Given the description of an element on the screen output the (x, y) to click on. 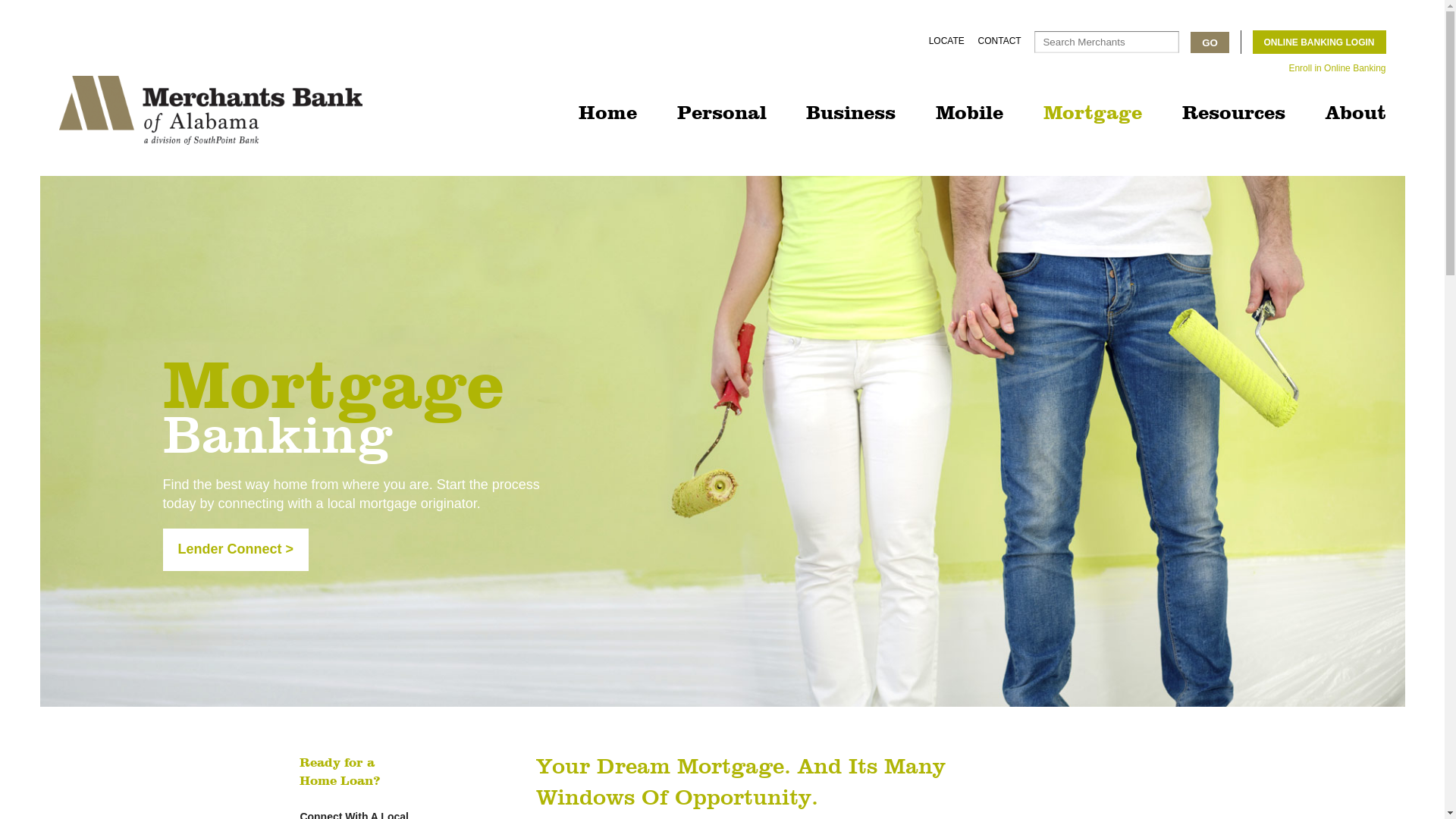
Enroll in Online Banking Element type: text (1336, 67)
Resources Element type: text (1233, 113)
Personal Element type: text (721, 113)
Home Element type: text (607, 113)
Lender Connect > Element type: text (235, 548)
CONTACT Element type: text (999, 40)
Mortgage Element type: text (1092, 113)
LOCATE Element type: text (946, 40)
About Element type: text (1355, 113)
GO Element type: text (1209, 42)
Business Element type: text (850, 113)
Mobile Element type: text (969, 113)
ONLINE BANKING LOGIN Element type: text (1319, 41)
